Given the description of an element on the screen output the (x, y) to click on. 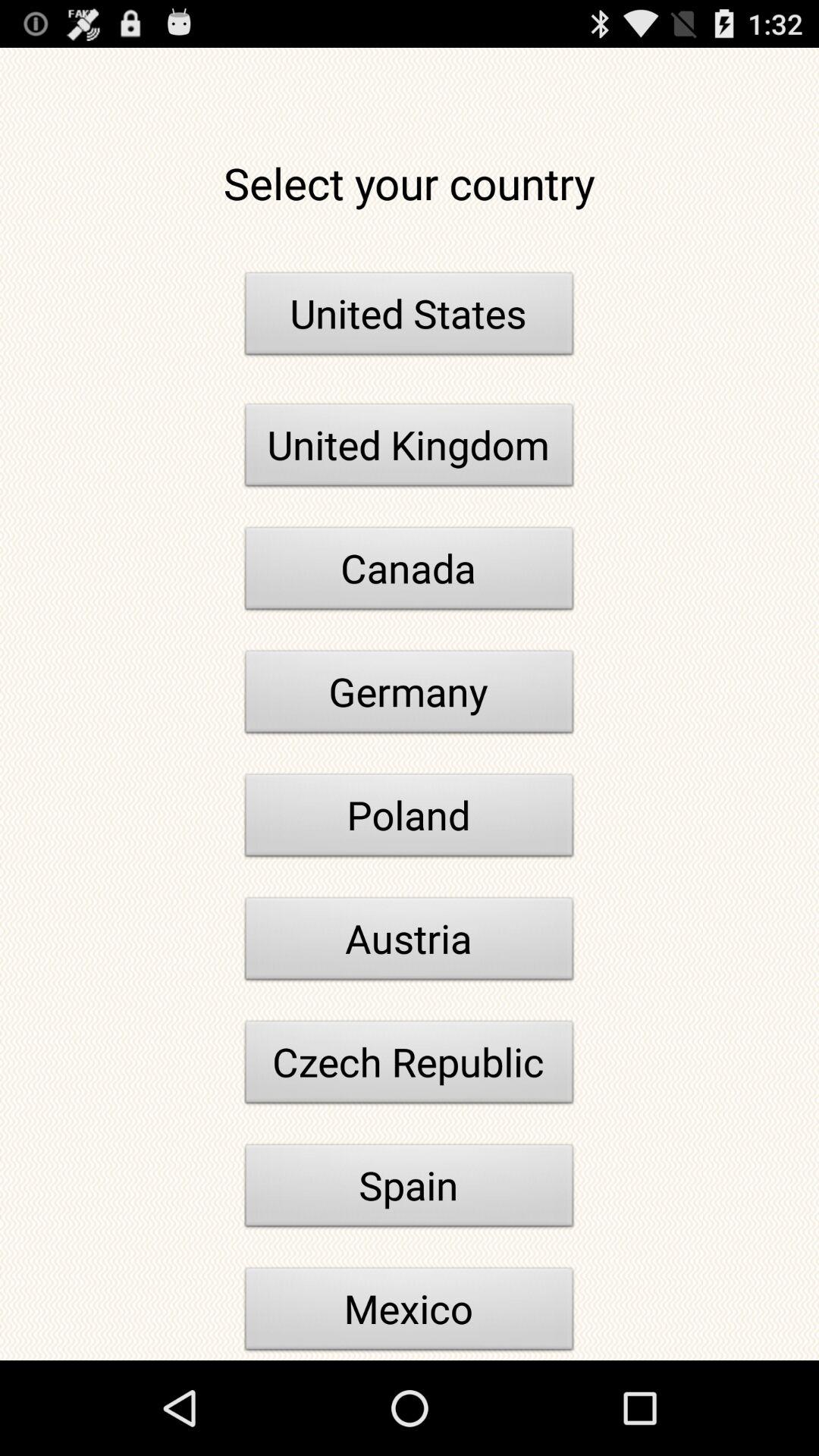
swipe until the spain button (409, 1189)
